Given the description of an element on the screen output the (x, y) to click on. 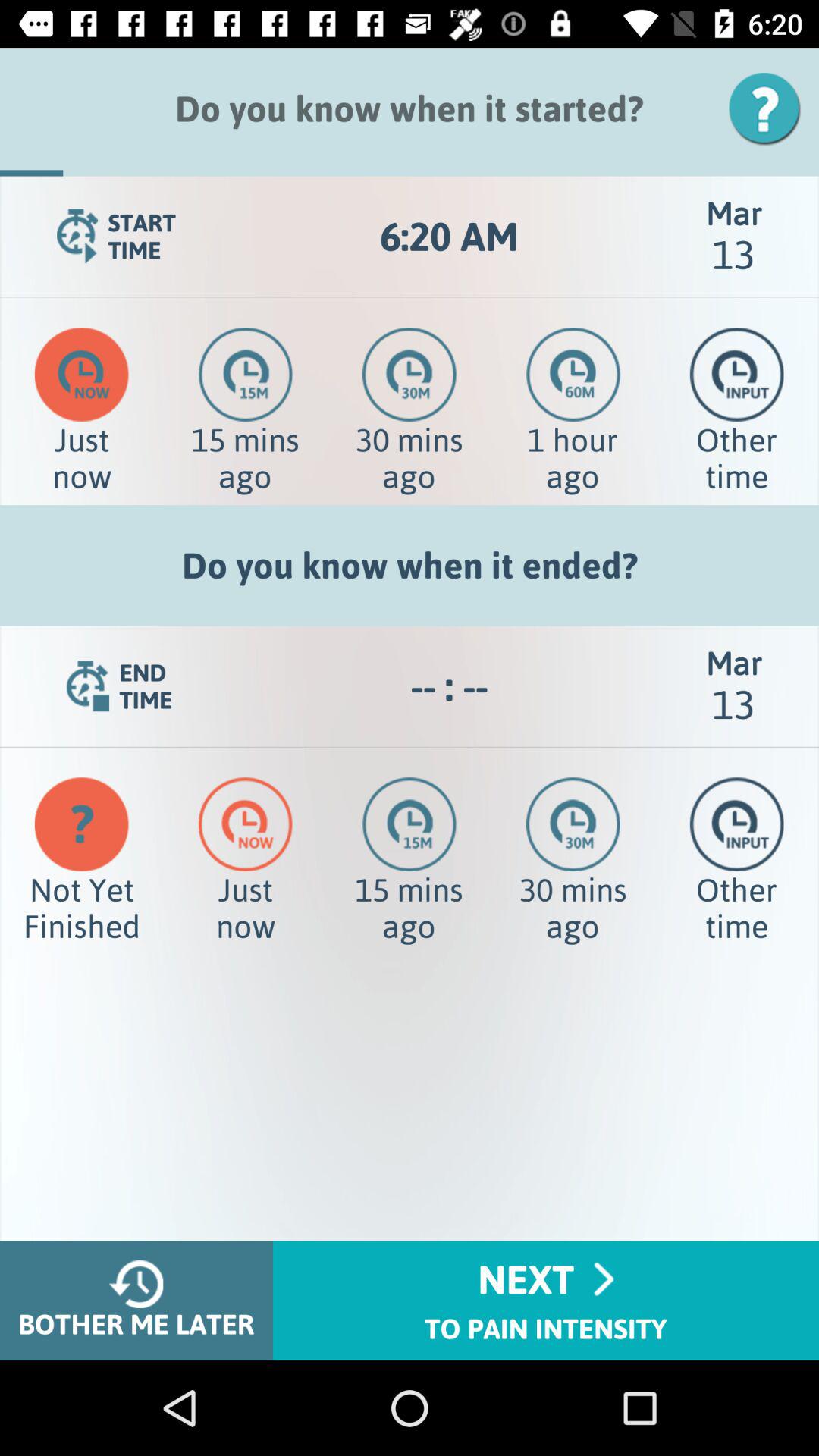
press the app next to the mar
13 app (448, 236)
